Given the description of an element on the screen output the (x, y) to click on. 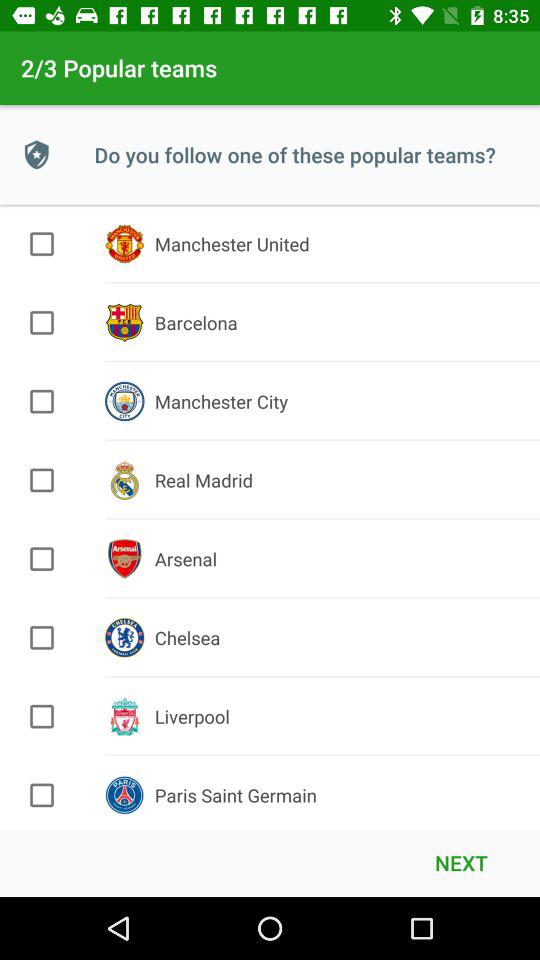
select team option (42, 401)
